Given the description of an element on the screen output the (x, y) to click on. 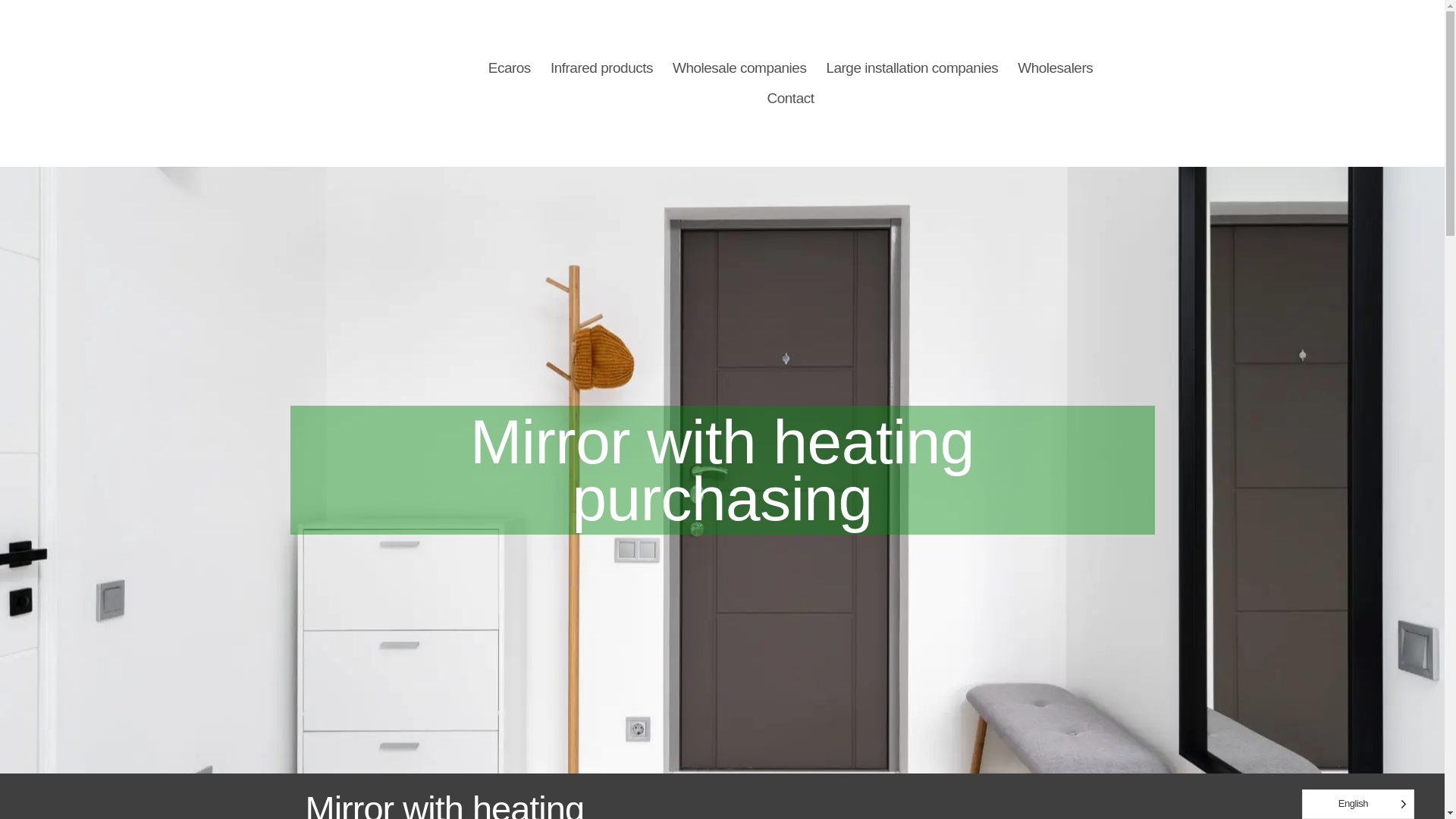
Large installation companies (911, 68)
Infrared products (601, 68)
Contact (790, 98)
Wholesalers (1054, 68)
Ecaros (509, 68)
Wholesale companies (738, 68)
